Given the description of an element on the screen output the (x, y) to click on. 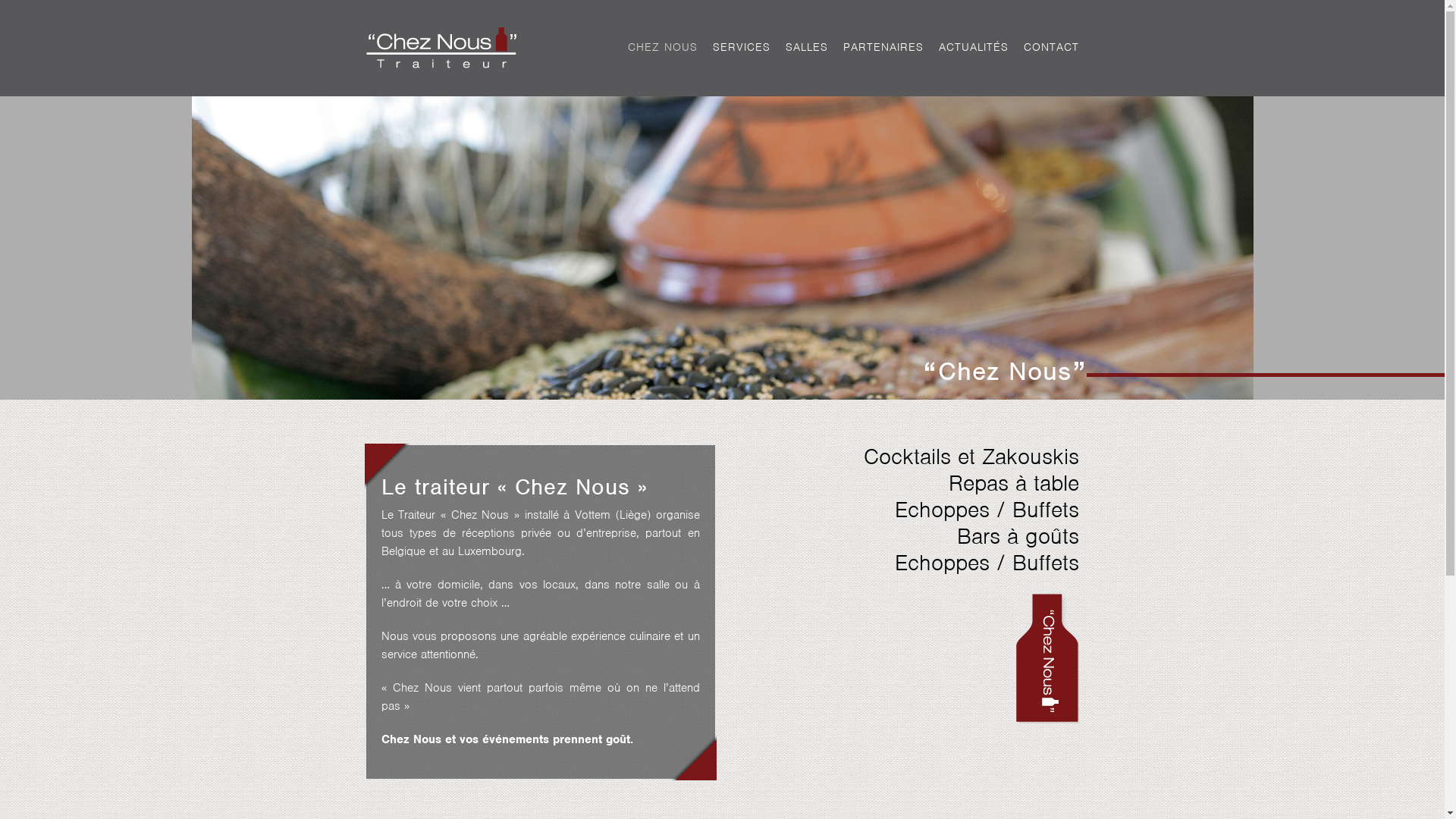
Cocktails et Zakouskis Element type: text (970, 456)
SALLES Element type: text (806, 46)
PARTENAIRES Element type: text (883, 46)
CONTACT Element type: text (1051, 46)
CHEZ NOUS Element type: text (662, 46)
Echoppes / Buffets Element type: text (986, 509)
SERVICES Element type: text (741, 46)
Echoppes / Buffets Element type: text (986, 562)
